Given the description of an element on the screen output the (x, y) to click on. 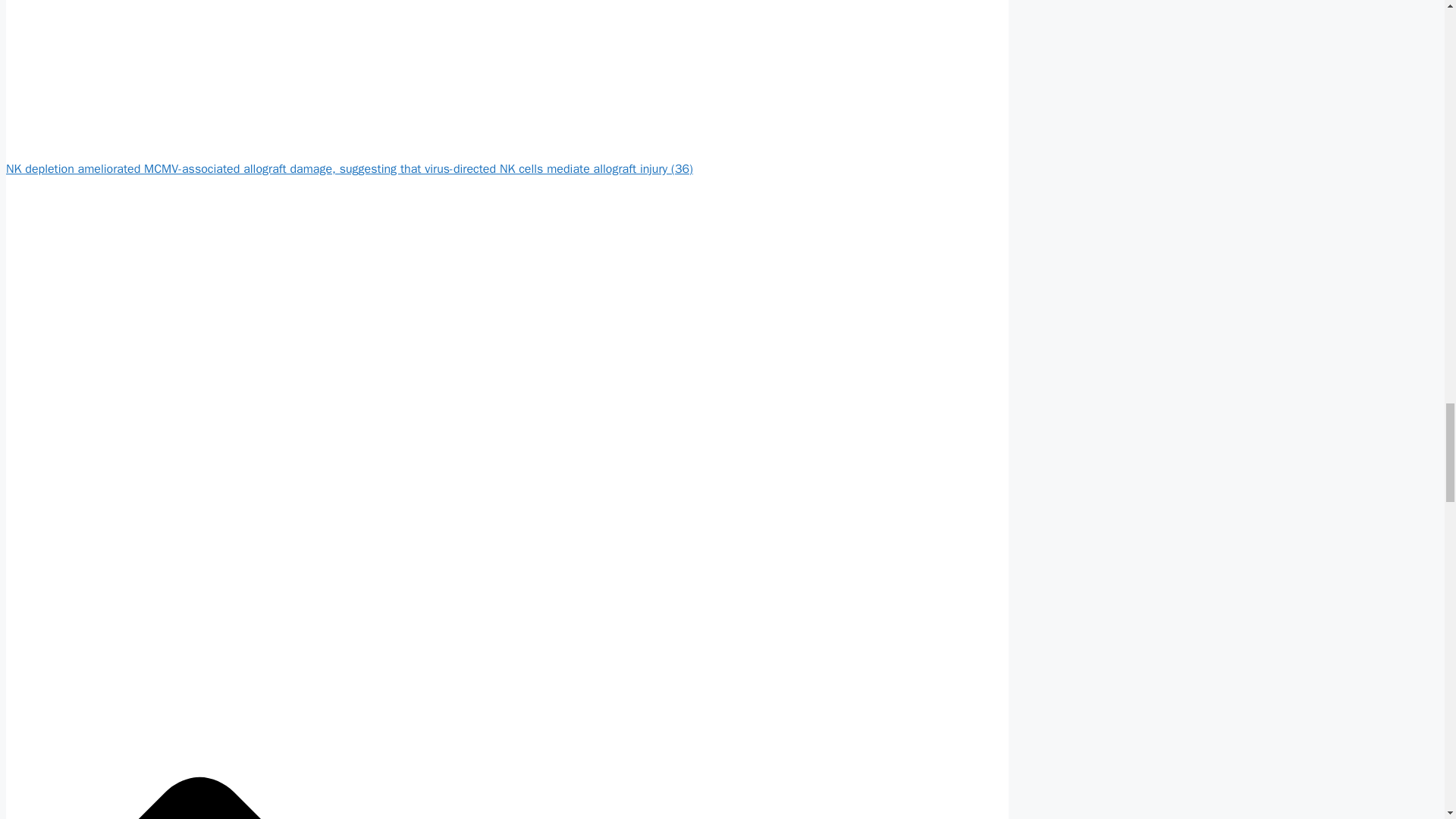
Previous (349, 168)
